Given the description of an element on the screen output the (x, y) to click on. 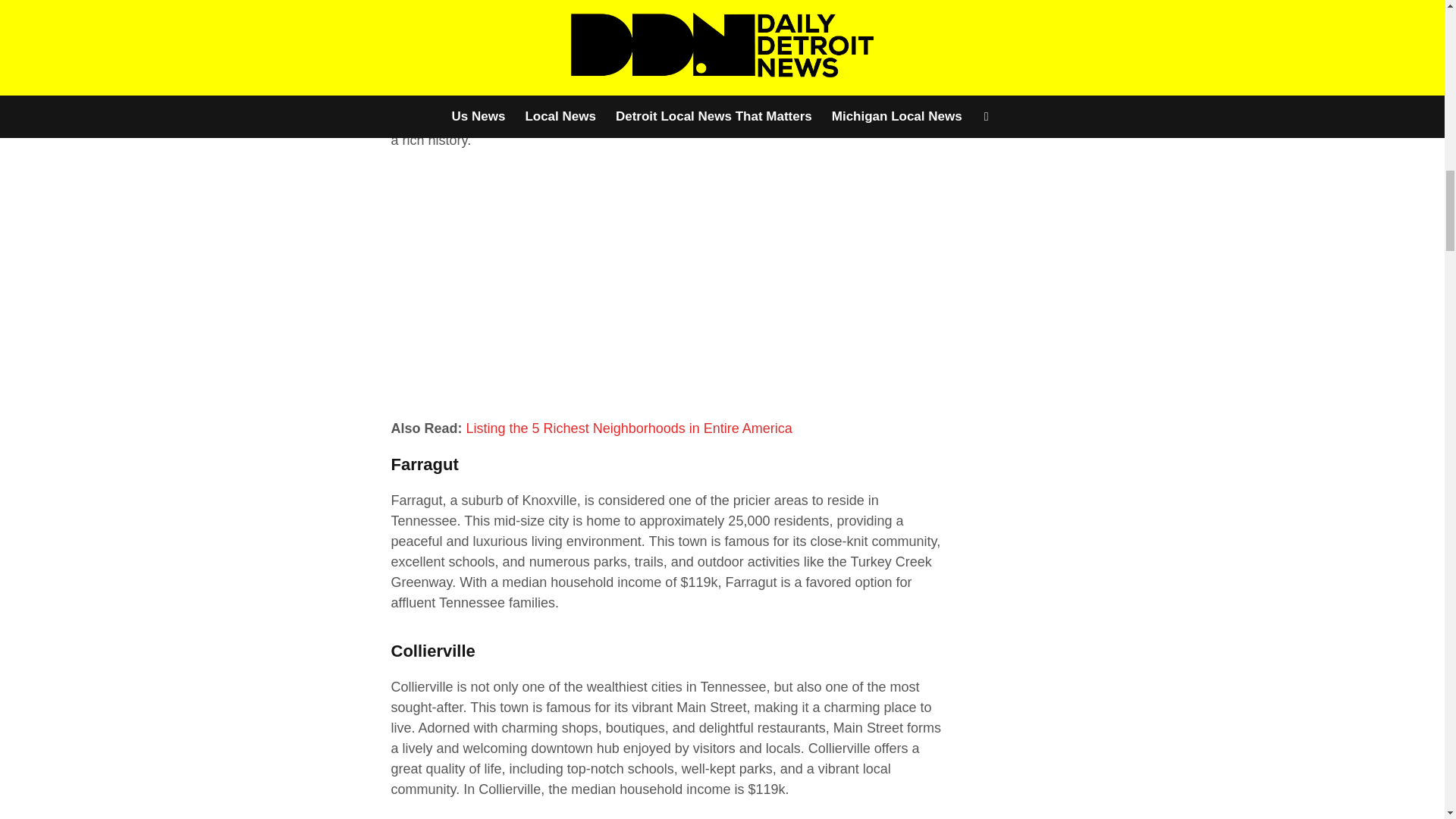
Listing the 5 Richest Neighborhoods in Entire America (628, 427)
